Given the description of an element on the screen output the (x, y) to click on. 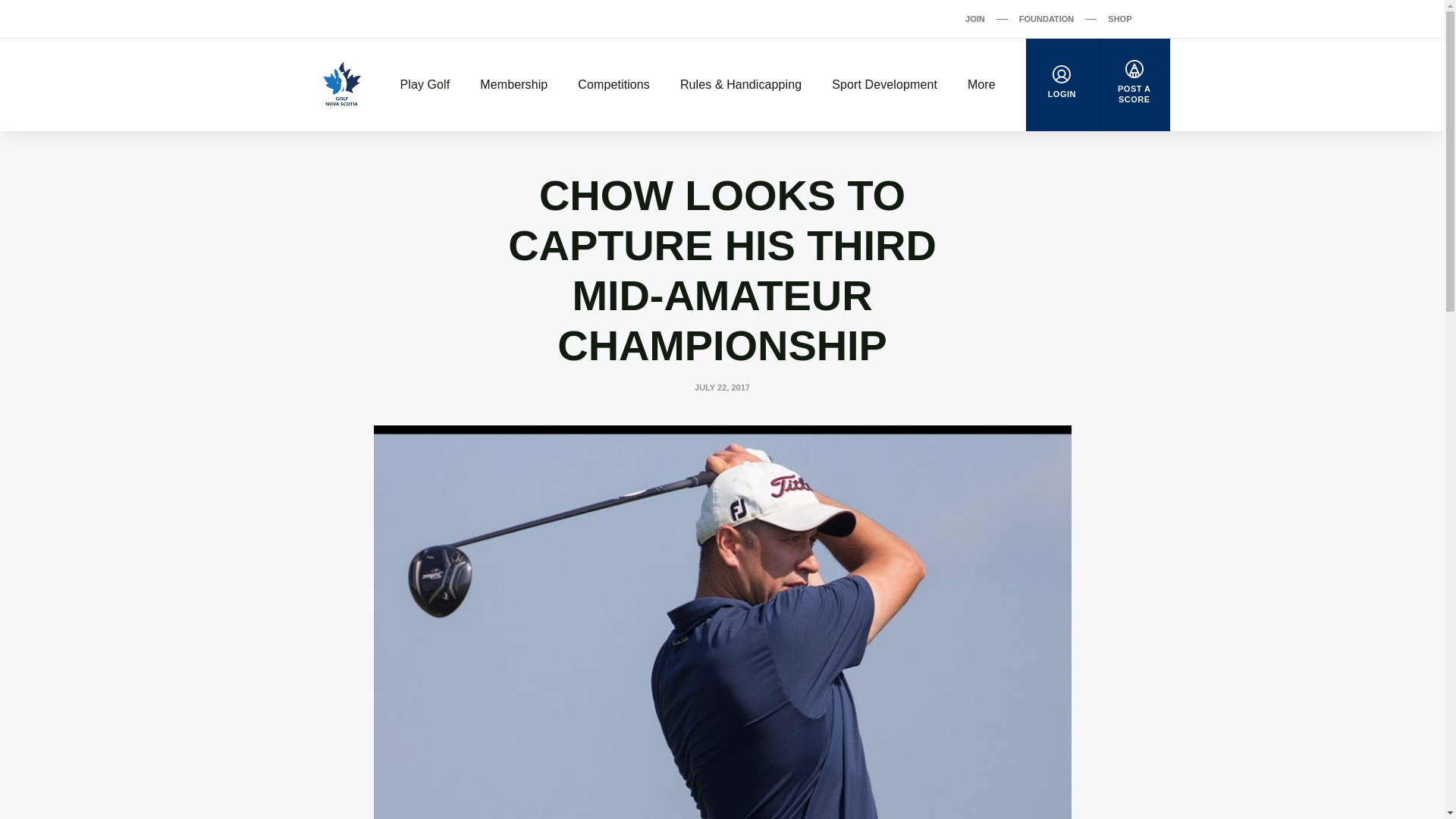
Membership (513, 85)
Play Golf (425, 85)
JOIN (975, 18)
SHOP (1119, 18)
FOUNDATION (1046, 18)
More (981, 85)
Sport Development (884, 85)
Competitions (613, 85)
